Given the description of an element on the screen output the (x, y) to click on. 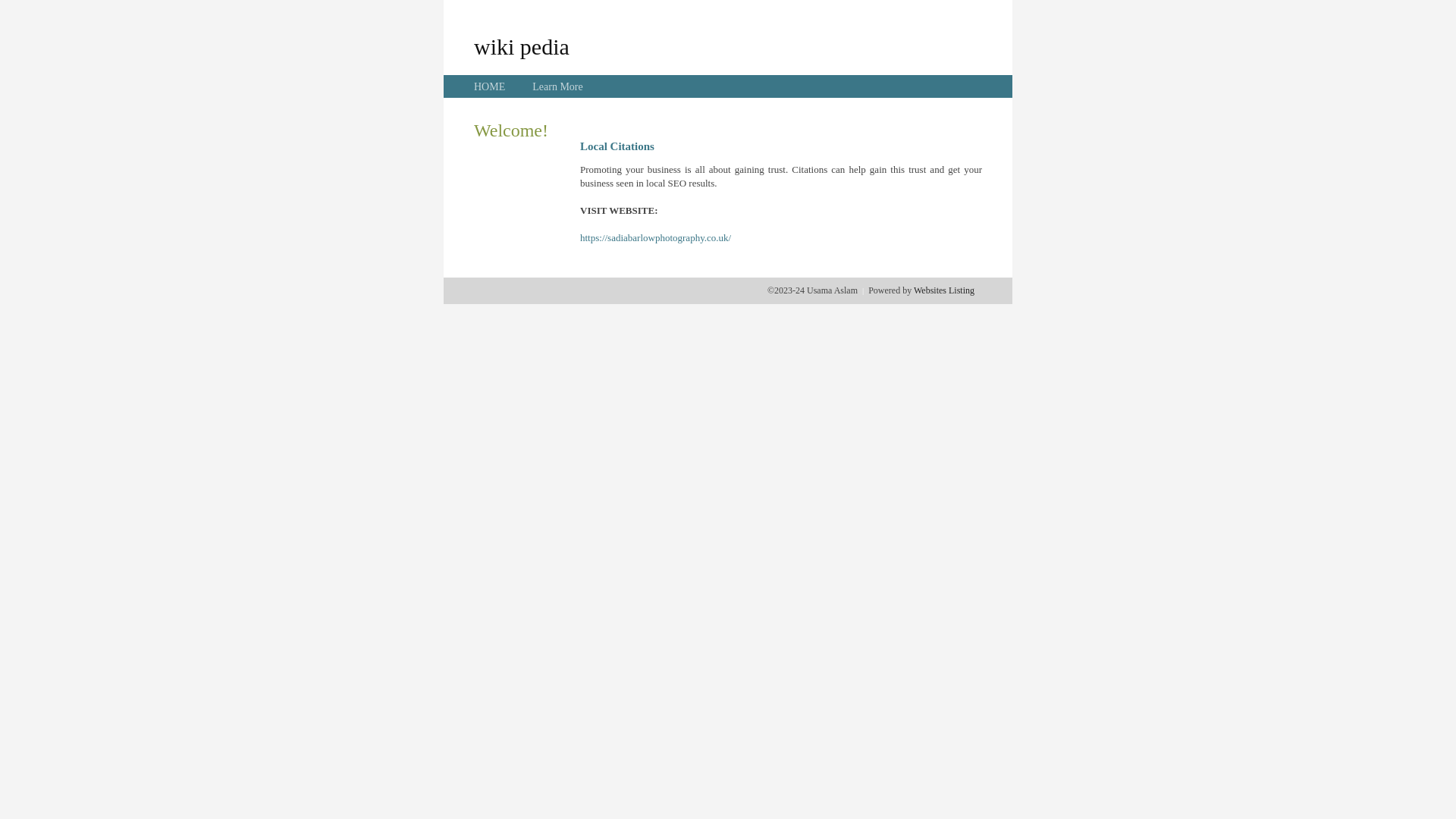
HOME Element type: text (489, 86)
https://sadiabarlowphotography.co.uk/ Element type: text (655, 237)
wiki pedia Element type: text (521, 46)
Websites Listing Element type: text (943, 290)
Learn More Element type: text (557, 86)
